Given the description of an element on the screen output the (x, y) to click on. 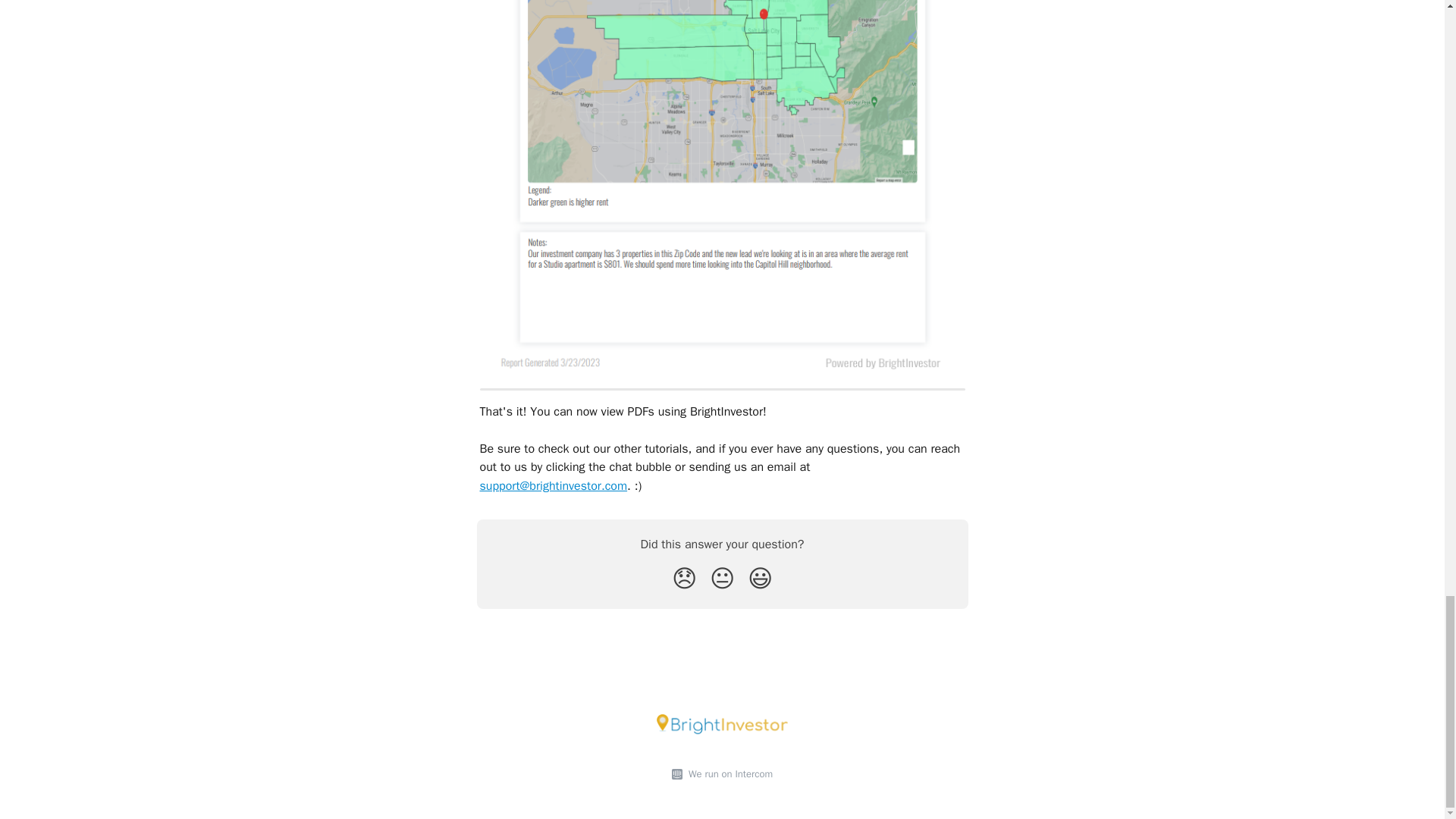
We run on Intercom (727, 774)
